Given the description of an element on the screen output the (x, y) to click on. 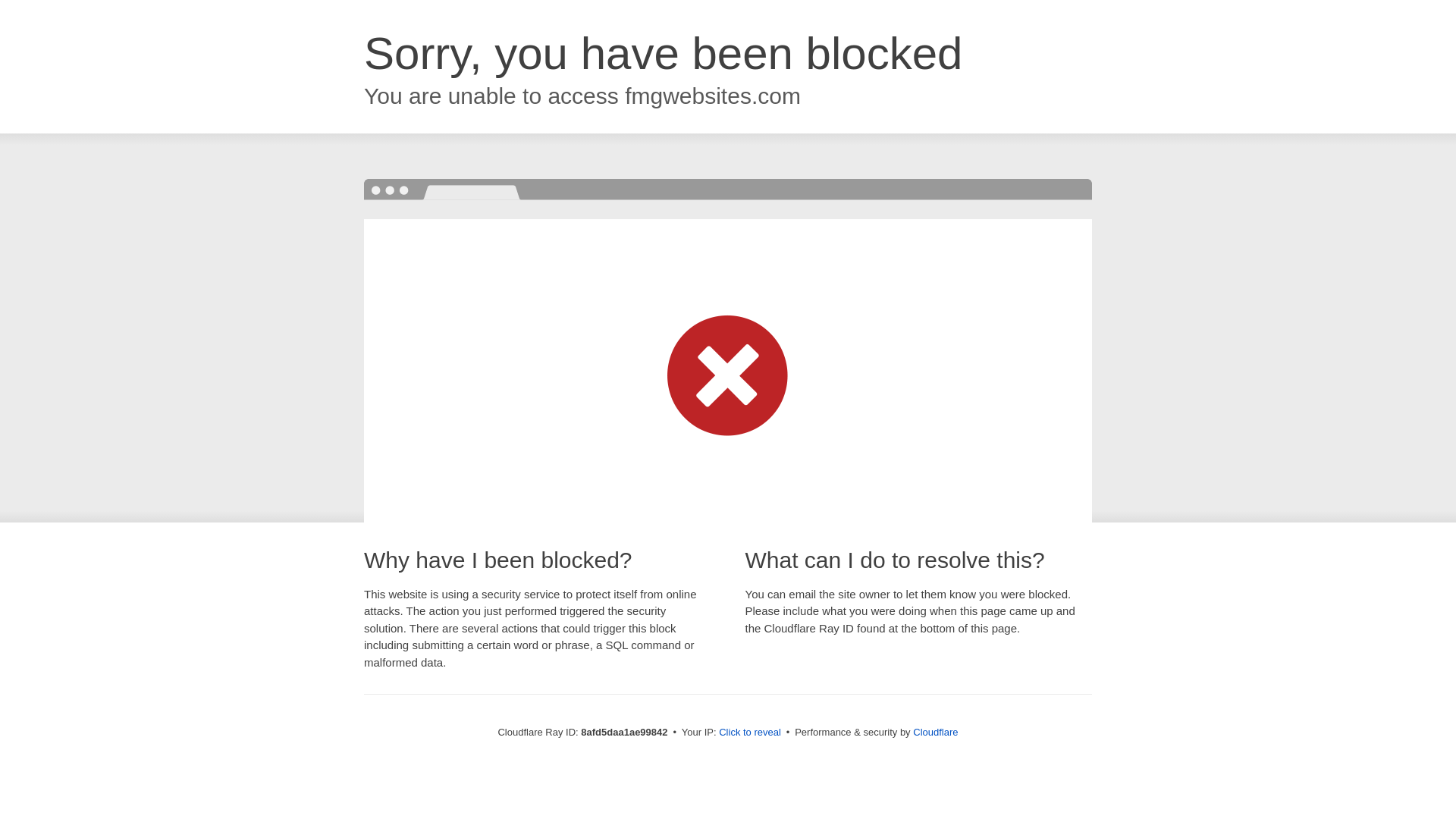
Cloudflare (935, 731)
Click to reveal (749, 732)
